Given the description of an element on the screen output the (x, y) to click on. 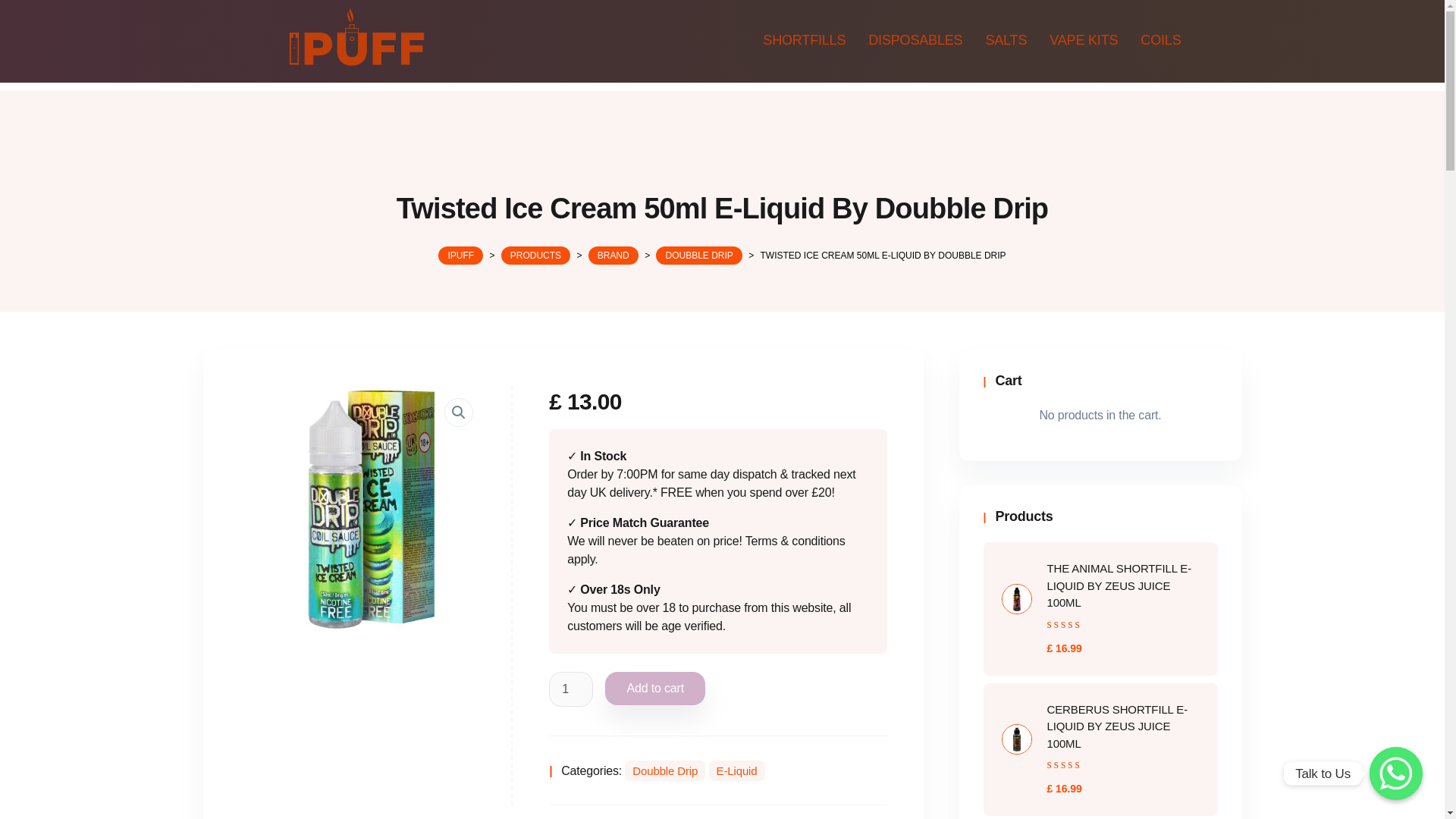
Go to Products. (535, 255)
Go to the Doubble Drip Category archives. (698, 255)
1 (570, 688)
Twisted Ice Cream 50ml E-Liquid (363, 508)
DISPOSABLES (915, 39)
Go to the Brand Category archives. (613, 255)
Go to iPuff. (460, 255)
SHORTFILLS (804, 39)
